Given the description of an element on the screen output the (x, y) to click on. 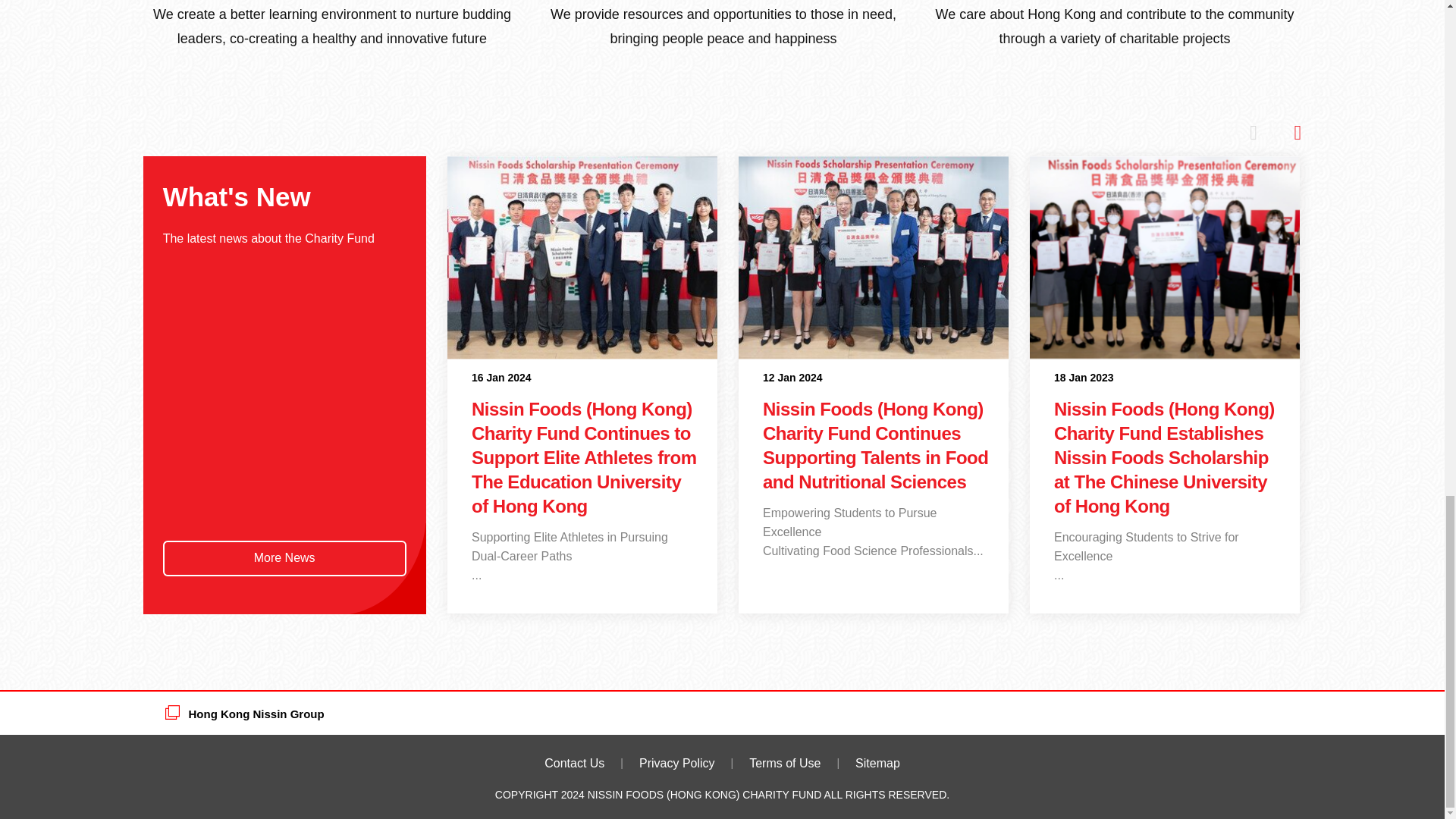
Contact Us (574, 762)
More News (284, 558)
Hong Kong Nissin Group (244, 721)
